Given the description of an element on the screen output the (x, y) to click on. 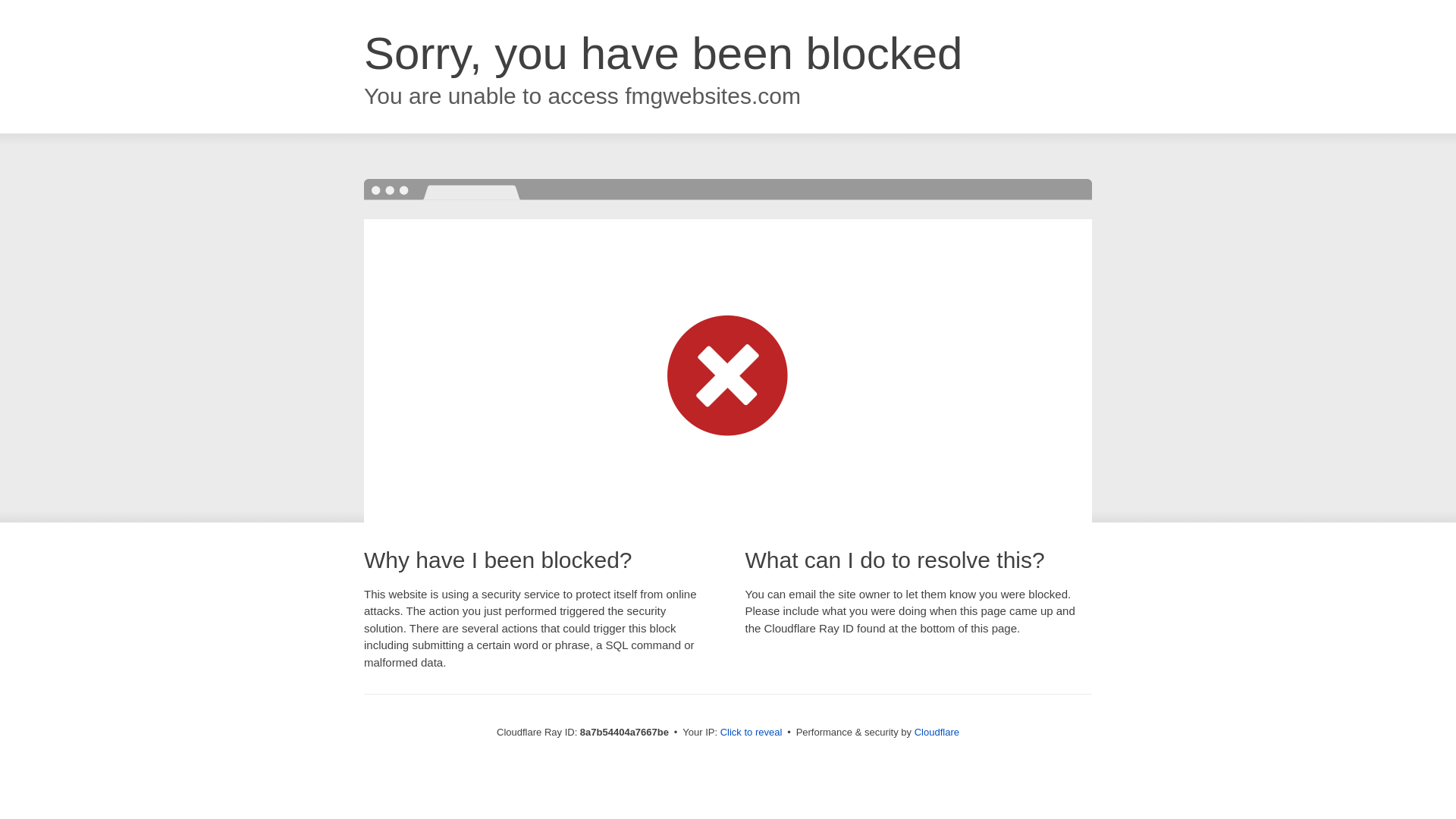
Cloudflare (936, 731)
Click to reveal (751, 732)
